Given the description of an element on the screen output the (x, y) to click on. 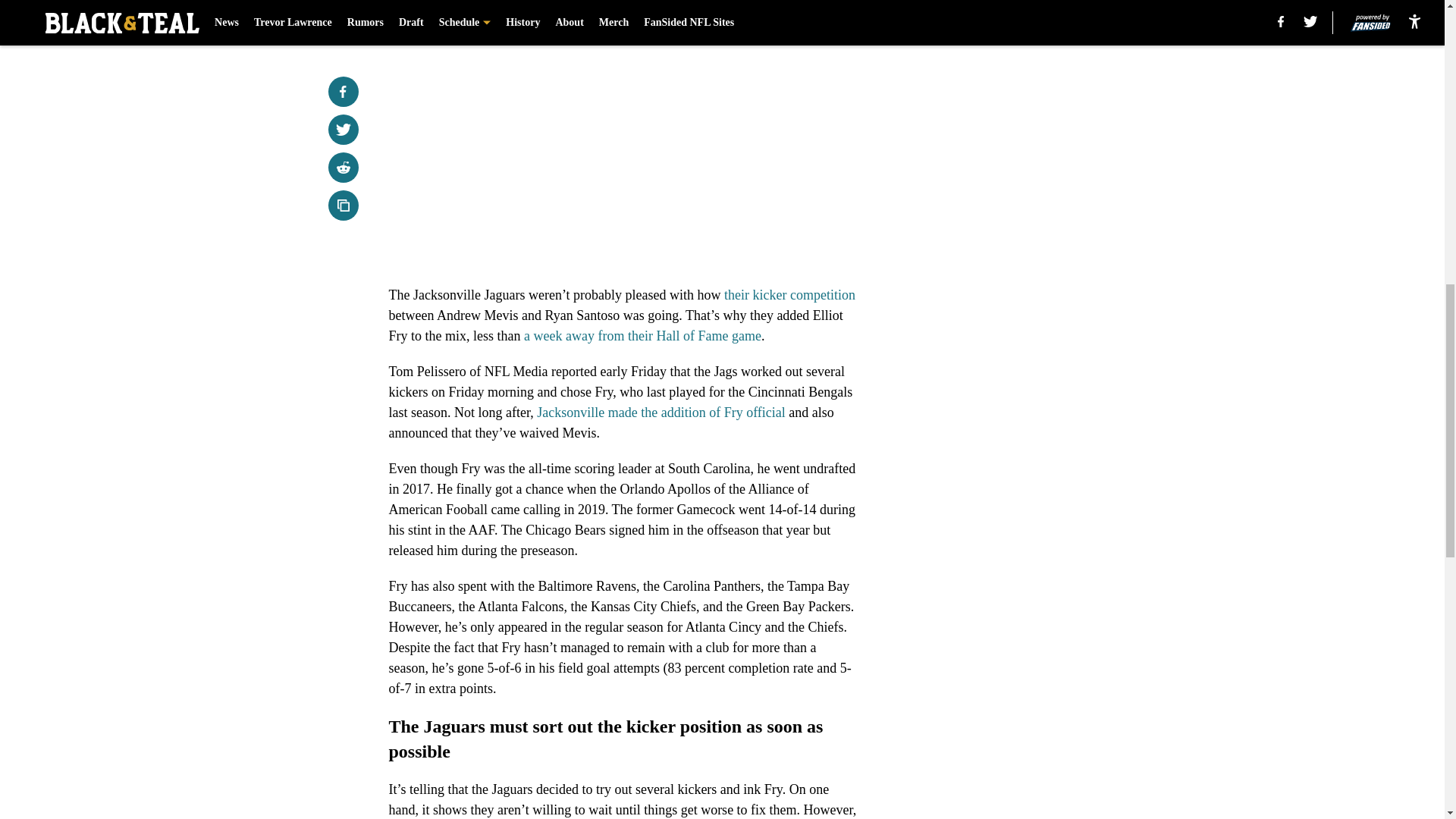
their kicker competition (789, 294)
Jacksonville made the addition of Fry official (661, 412)
a week away from their Hall of Fame game (642, 335)
